Given the description of an element on the screen output the (x, y) to click on. 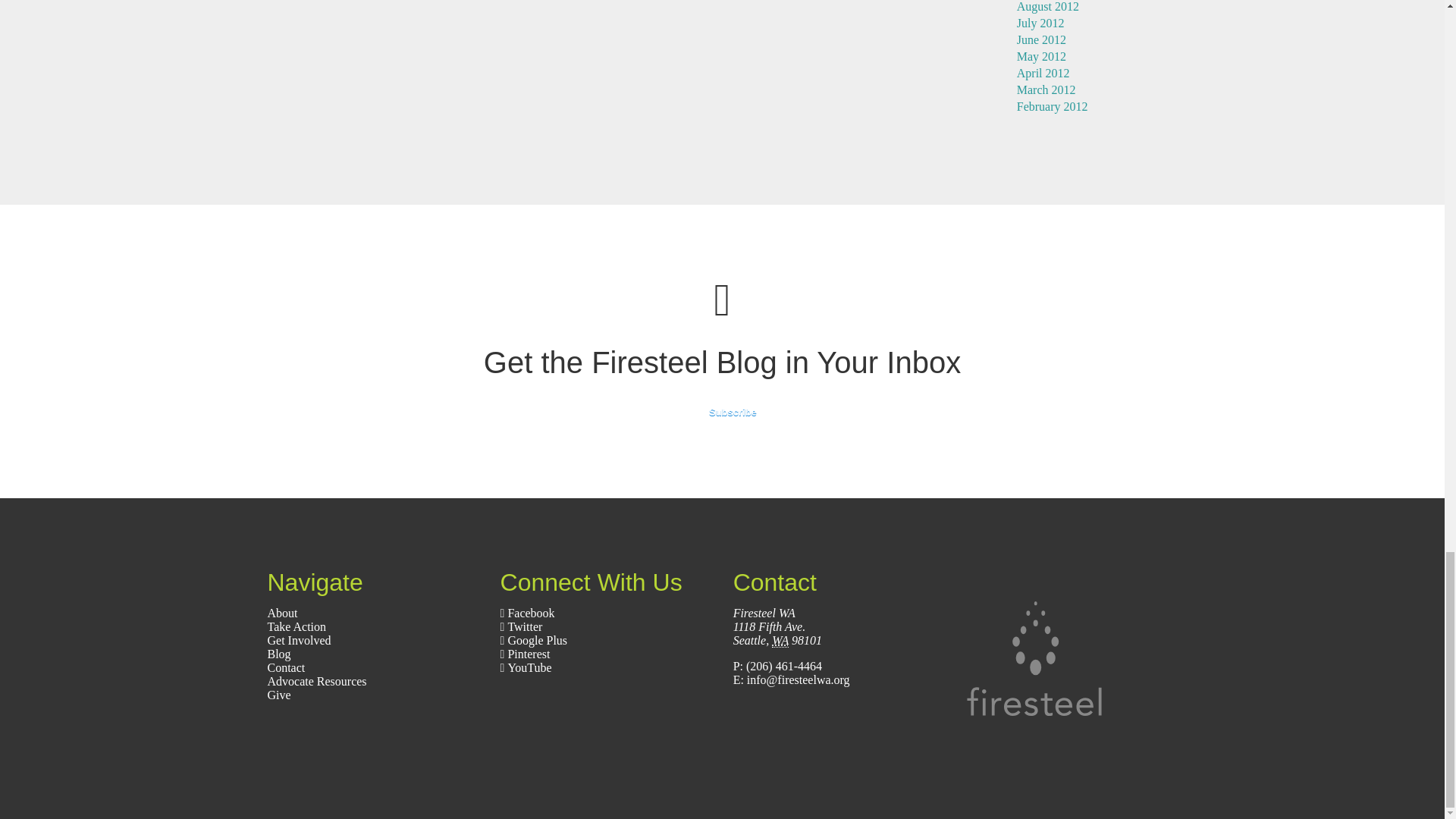
Washington (780, 640)
Preview (721, 412)
